Given the description of an element on the screen output the (x, y) to click on. 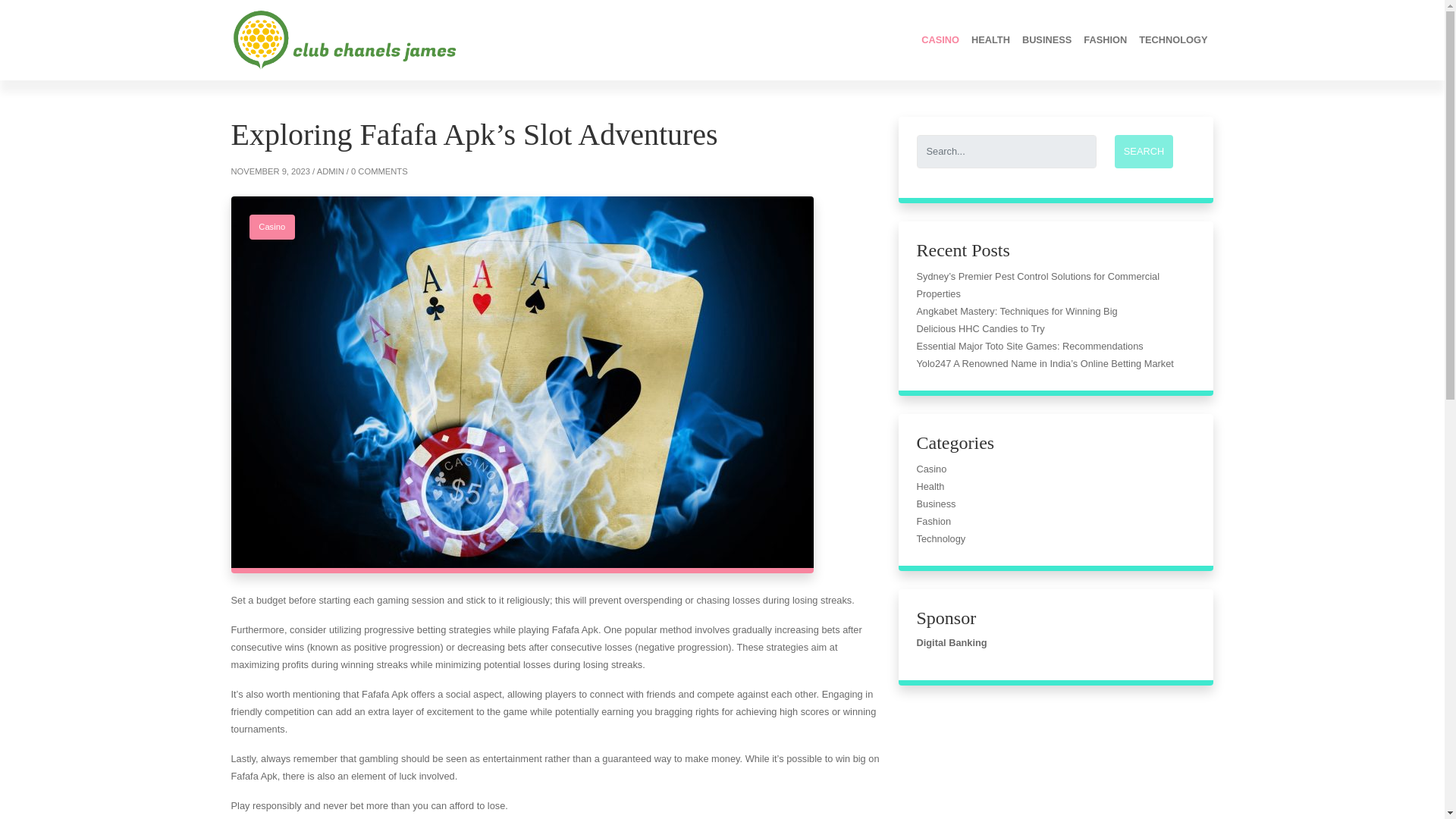
Health (929, 486)
TECHNOLOGY (1172, 39)
Angkabet Mastery: Techniques for Winning Big (1015, 310)
Casino (271, 226)
CASINO (940, 39)
Business (935, 503)
Delicious HHC Candies to Try (979, 328)
Health (990, 39)
Technology (1172, 39)
Business (1046, 39)
Fashion (932, 521)
Fashion (1104, 39)
FASHION (1104, 39)
Casino (940, 39)
Technology (940, 538)
